Given the description of an element on the screen output the (x, y) to click on. 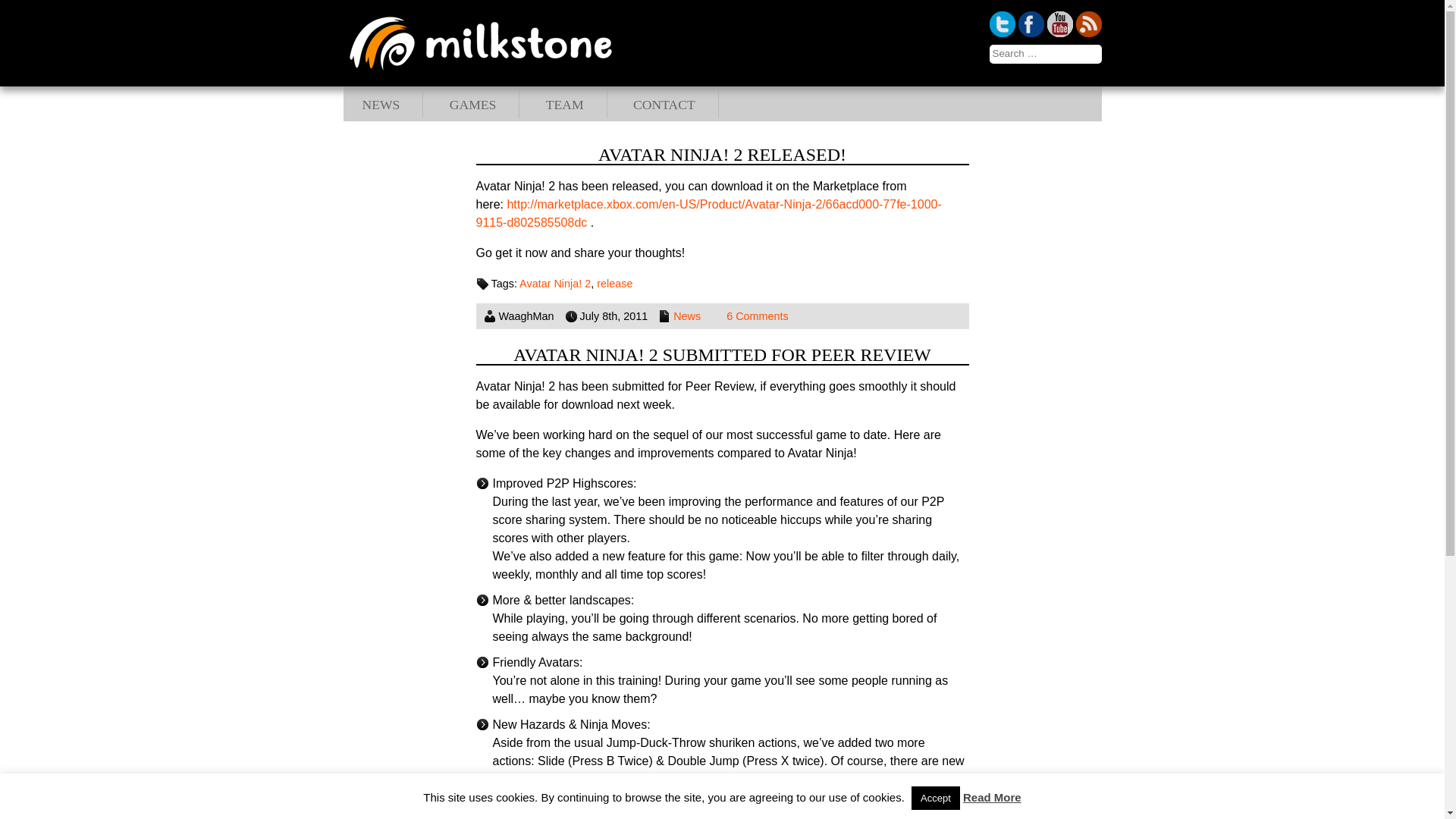
Avatar Ninja! 2 (555, 283)
News (686, 316)
GAMES (472, 104)
AVATAR NINJA! 2 RELEASED! (721, 154)
Avatar Ninja! 2 released! (721, 154)
Read More (992, 797)
release (613, 283)
NEWS (381, 104)
Avatar Ninja! 2 submitted for Peer Review (722, 354)
6 Comments (757, 316)
CONTACT (664, 104)
AVATAR NINJA! 2 SUBMITTED FOR PEER REVIEW (722, 354)
TEAM (564, 104)
Accept (935, 797)
